Given the description of an element on the screen output the (x, y) to click on. 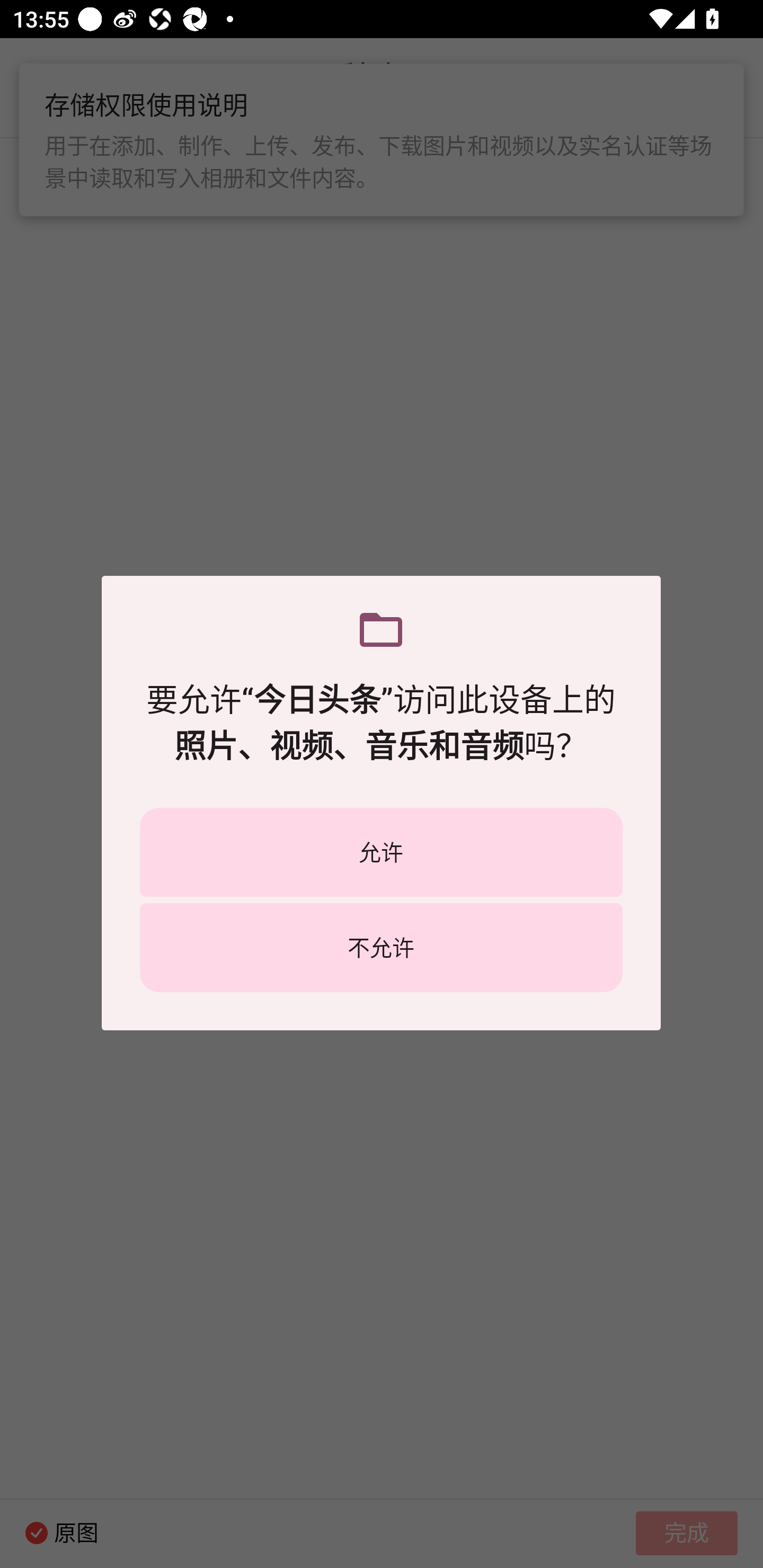
允许 (380, 851)
不允许 (380, 947)
